Given the description of an element on the screen output the (x, y) to click on. 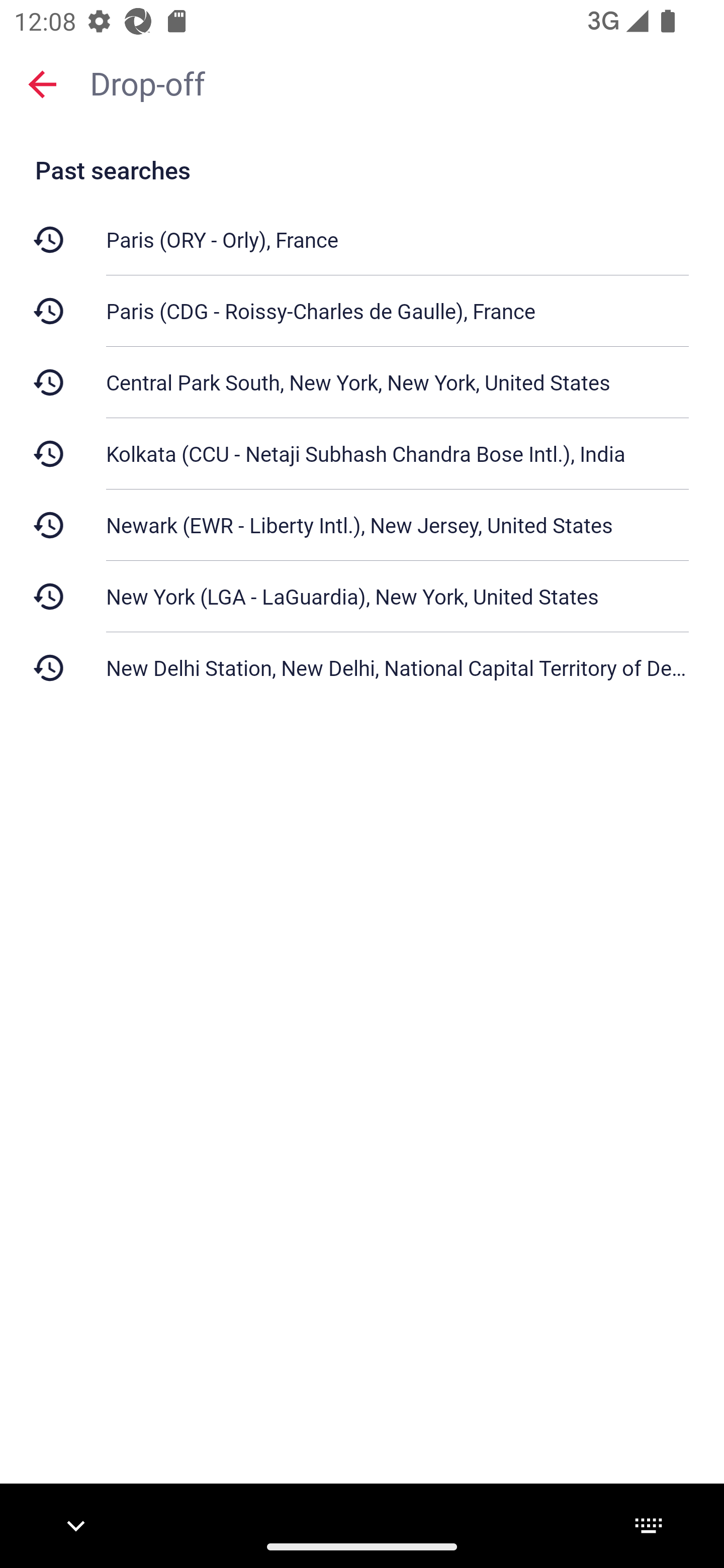
Close search screen (42, 84)
Drop-off,  (397, 82)
